Given the description of an element on the screen output the (x, y) to click on. 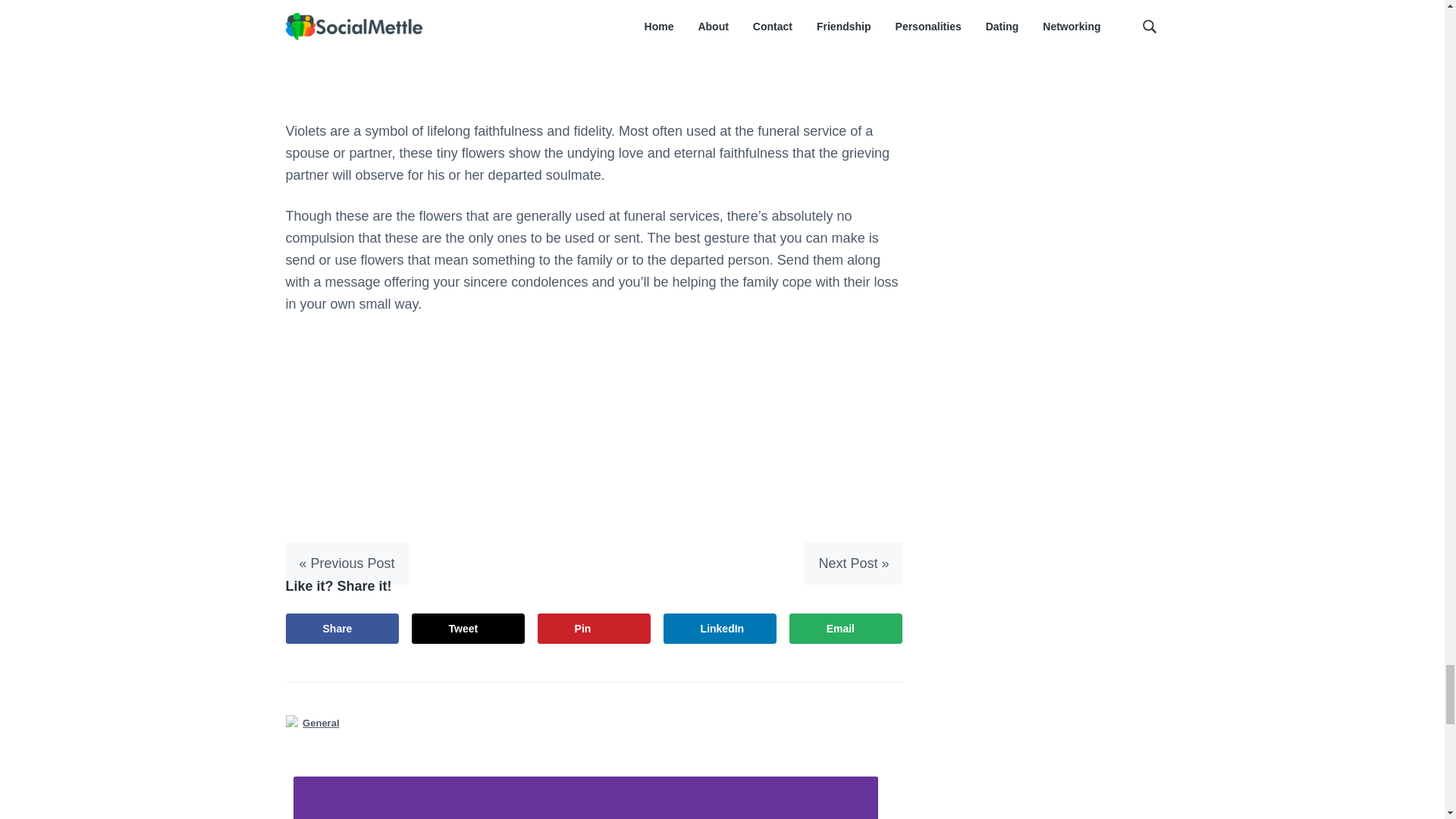
Email (845, 628)
LinkedIn (720, 628)
Share on Facebook (341, 628)
Send over email (845, 628)
Share on LinkedIn (720, 628)
Share (341, 628)
Tweet (468, 628)
General (320, 722)
Save to Pinterest (593, 628)
Share on X (468, 628)
